Given the description of an element on the screen output the (x, y) to click on. 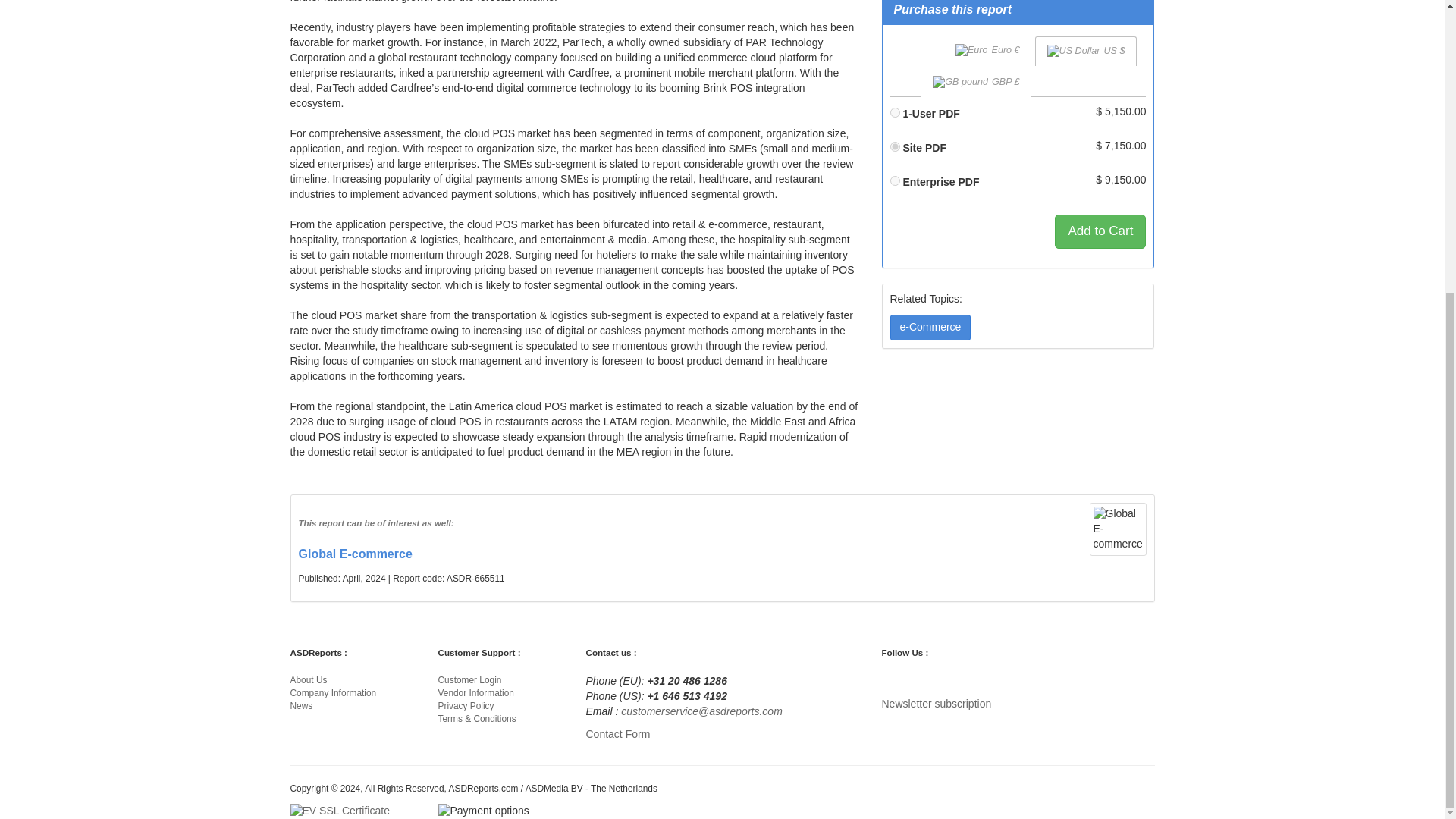
News (301, 706)
About Us - ASDReports (307, 679)
Change currency to GB Pound (975, 82)
Company Information (332, 692)
xprice3 (894, 180)
Change currency to Euro (986, 50)
xprice2 (894, 146)
xprice1 (894, 112)
Change currency to US Dollar (1086, 51)
